Given the description of an element on the screen output the (x, y) to click on. 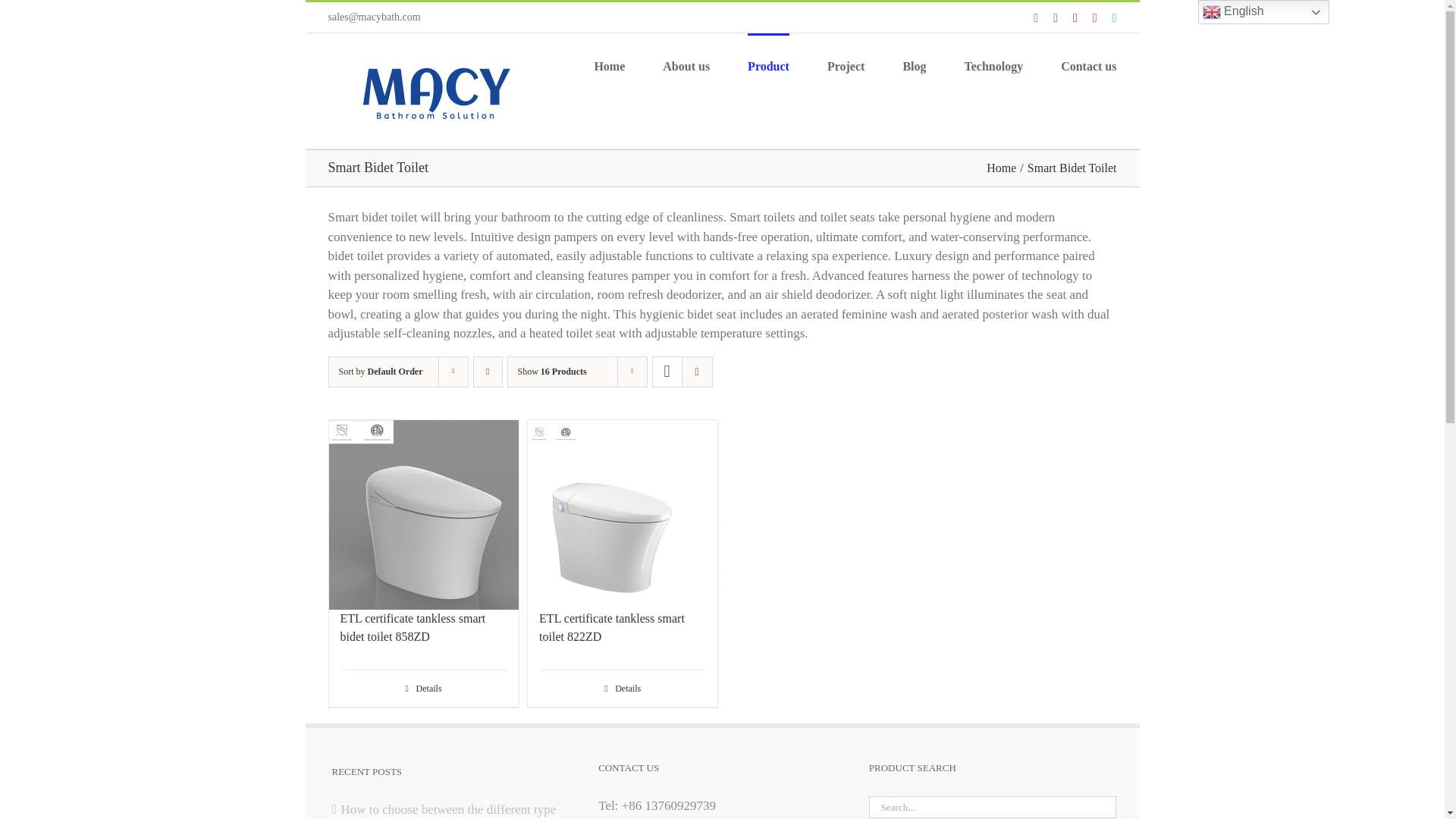
Technology (993, 65)
